Given the description of an element on the screen output the (x, y) to click on. 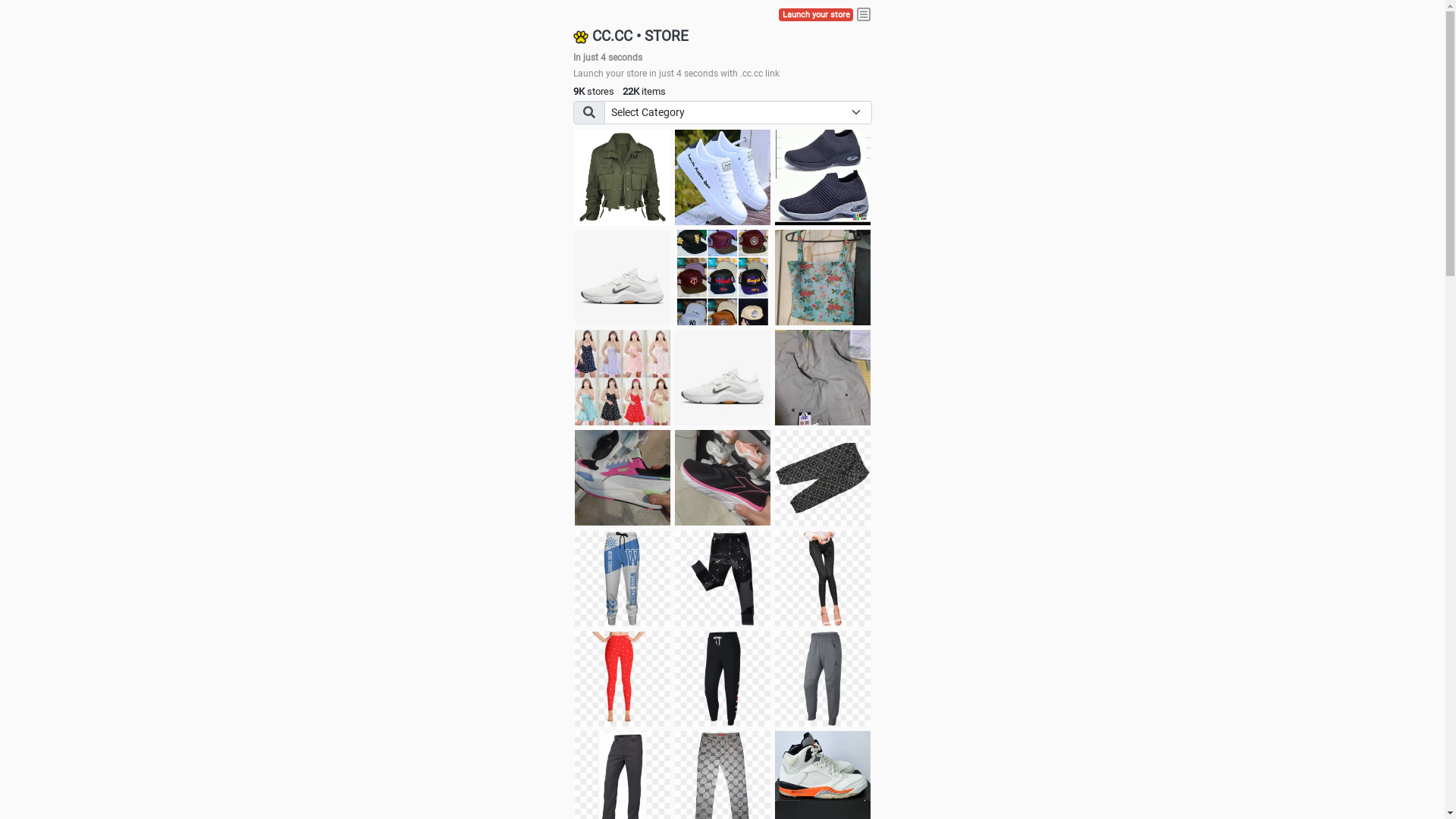
Pant Element type: hover (822, 578)
Pant Element type: hover (622, 578)
Pant Element type: hover (822, 678)
Ukay cloth Element type: hover (822, 277)
Shoes for boys Element type: hover (622, 277)
Dress/square nect top Element type: hover (622, 377)
shoes for boys Element type: hover (822, 177)
Pant Element type: hover (722, 578)
Pant Element type: hover (722, 678)
Shoes Element type: hover (722, 377)
Short pant Element type: hover (822, 477)
Zapatillas Element type: hover (722, 477)
jacket Element type: hover (622, 177)
white shoes Element type: hover (722, 177)
Zapatillas pumas Element type: hover (622, 477)
Launch your store Element type: text (815, 14)
Things we need Element type: hover (722, 277)
Pant Element type: hover (622, 678)
